Given the description of an element on the screen output the (x, y) to click on. 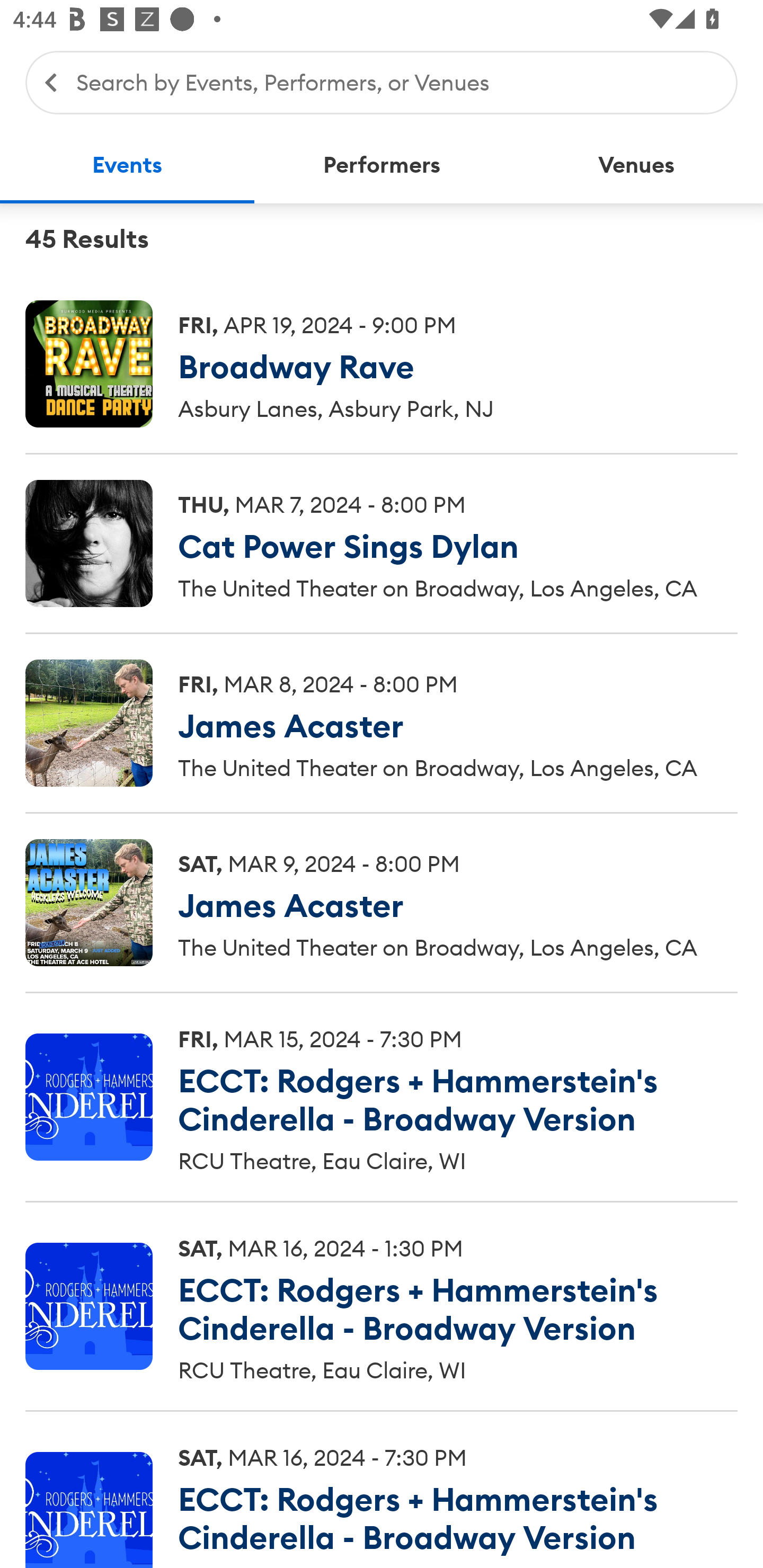
Performers (381, 165)
Venues (635, 165)
